Given the description of an element on the screen output the (x, y) to click on. 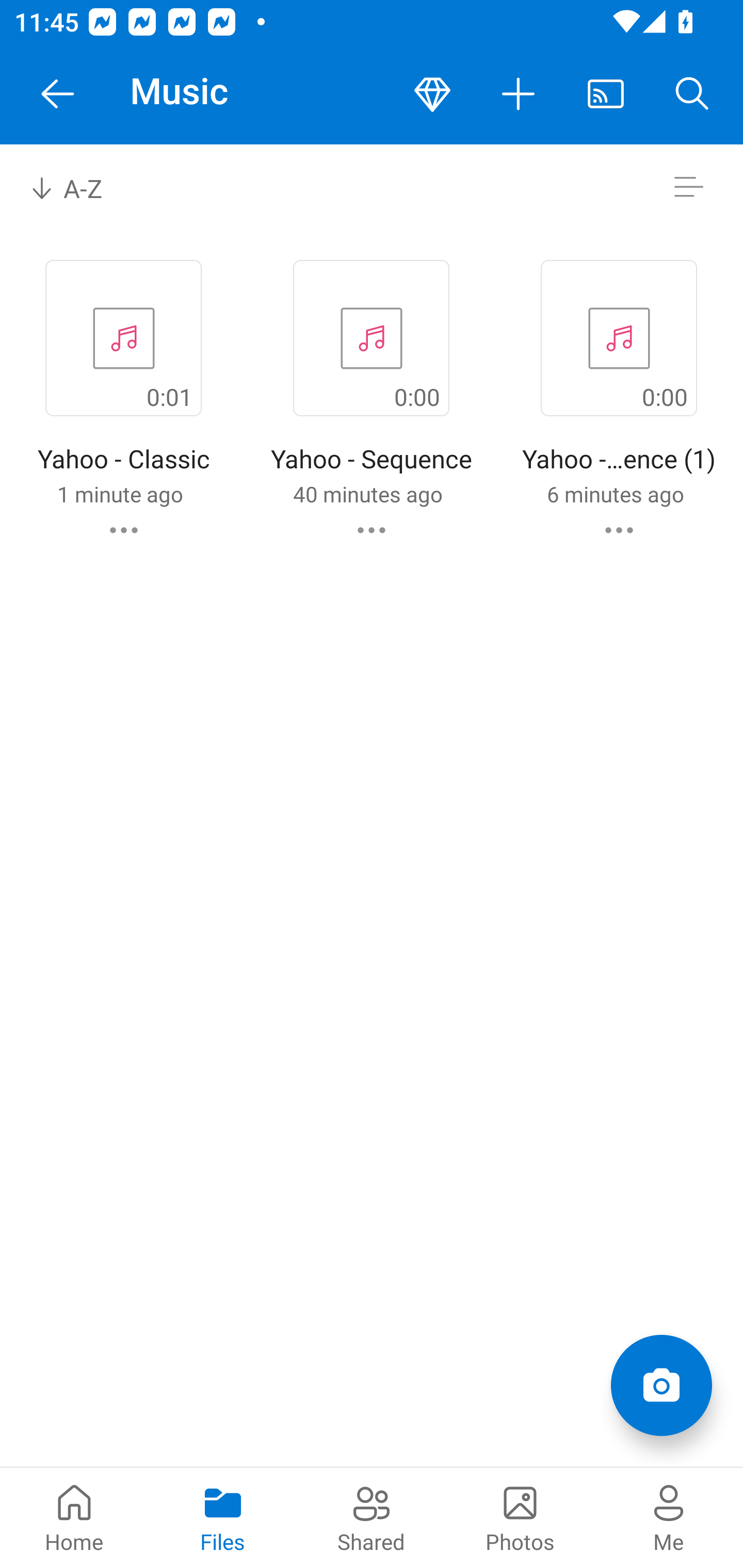
Navigate Up (57, 93)
Cast. Disconnected (605, 93)
Premium button (432, 93)
More actions button (518, 93)
Search button (692, 93)
A-Z Sort by combo box, sort by name, A to Z (80, 187)
Switch to list view (688, 187)
1 minute ago (120, 493)
40 minutes ago (367, 493)
6 minutes ago (615, 493)
Yahoo - Classic commands (123, 529)
Yahoo - Sequence commands (371, 529)
Yahoo - Sequence (1) commands (618, 529)
Add items Scan (660, 1385)
Home pivot Home (74, 1517)
Shared pivot Shared (371, 1517)
Photos pivot Photos (519, 1517)
Me pivot Me (668, 1517)
